Given the description of an element on the screen output the (x, y) to click on. 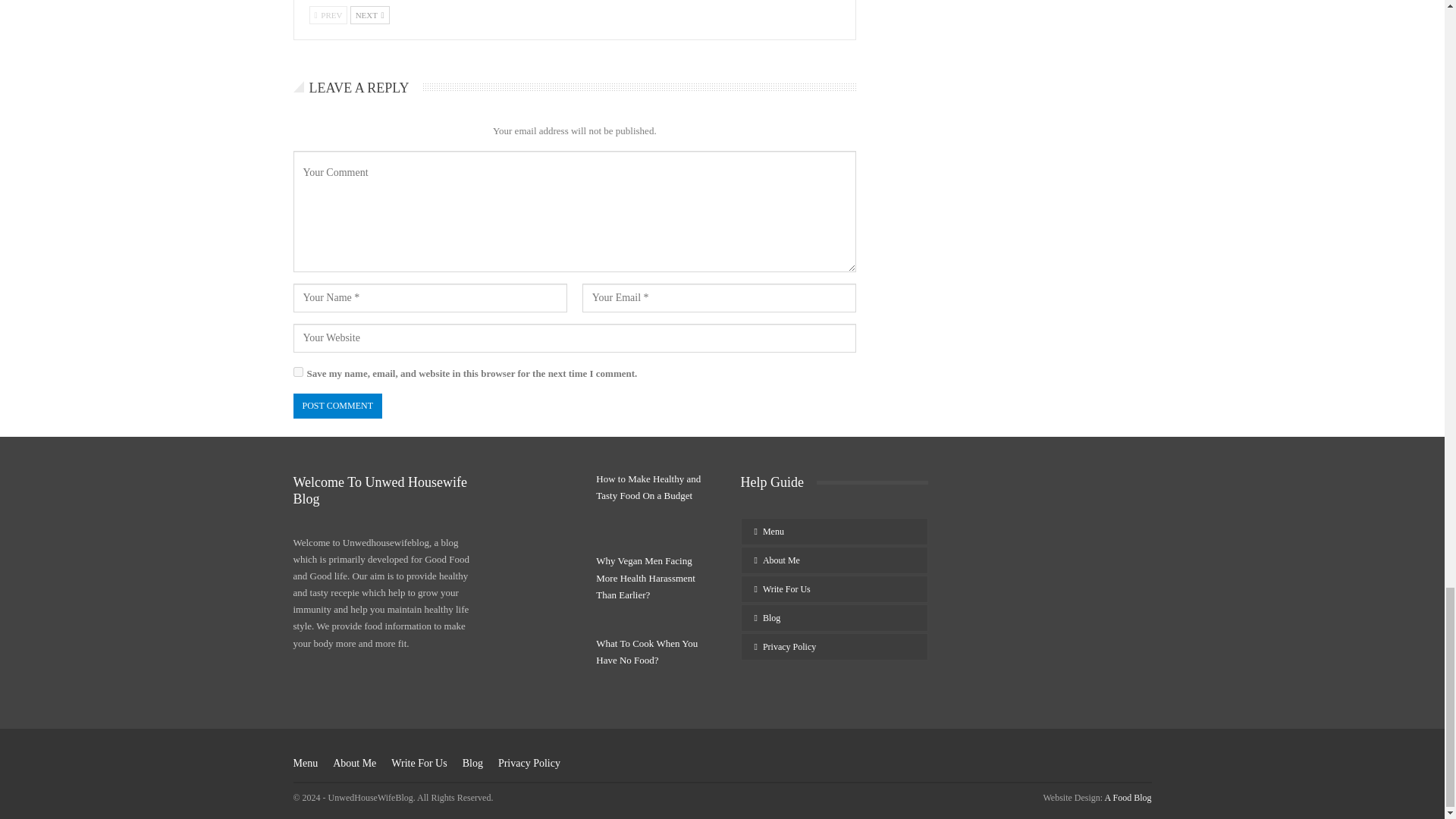
Post Comment (336, 405)
Next (370, 14)
Previous (327, 14)
yes (297, 371)
